Given the description of an element on the screen output the (x, y) to click on. 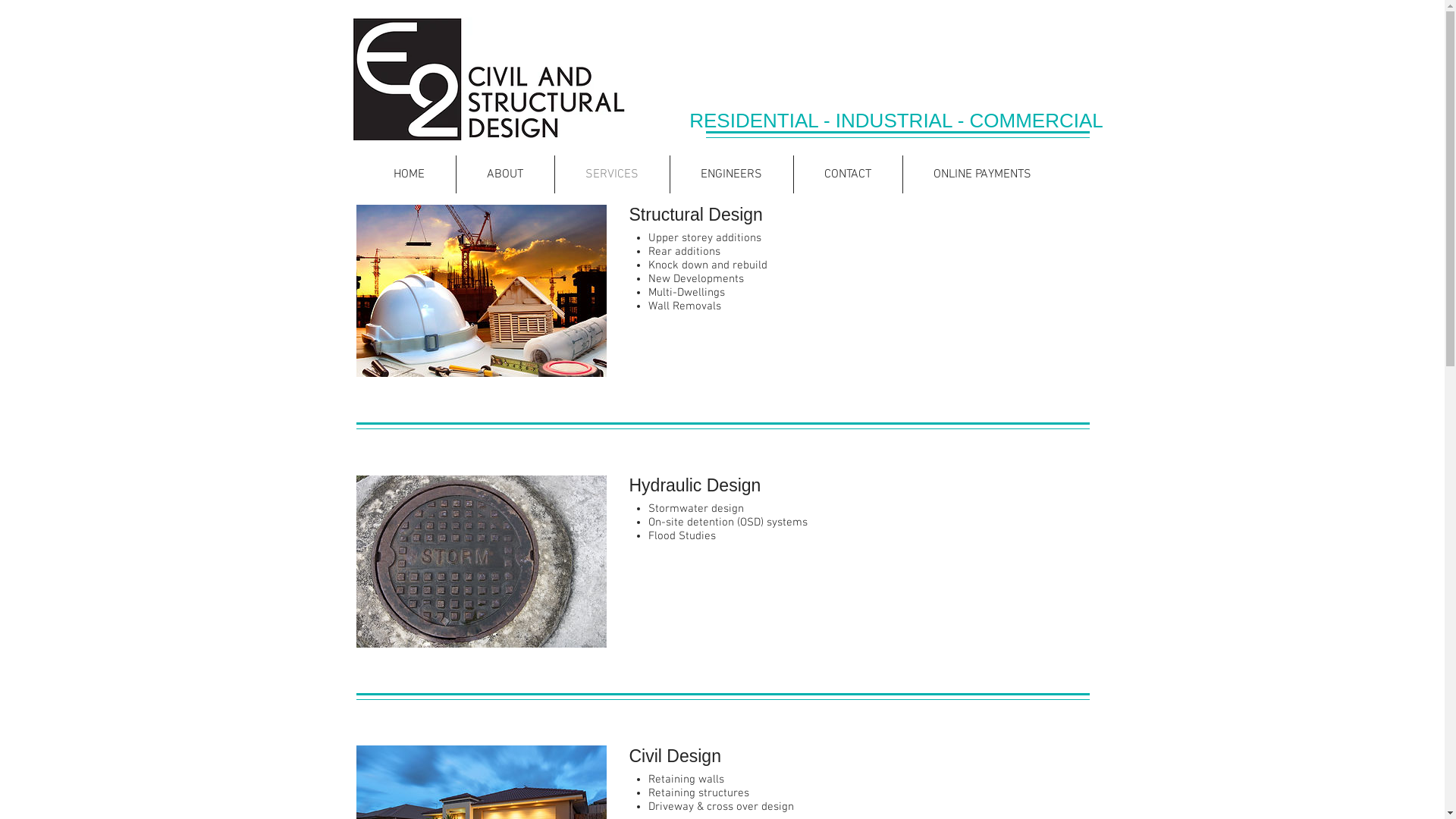
SERVICES Element type: text (612, 174)
HOME Element type: text (408, 174)
CONTACT Element type: text (847, 174)
ENGINEERS Element type: text (731, 174)
Stormwater design sydney australia Element type: hover (481, 560)
ABOUT Element type: text (505, 174)
ONLINE PAYMENTS Element type: text (981, 174)
Structural engineering sydney australia Element type: hover (481, 290)
